Given the description of an element on the screen output the (x, y) to click on. 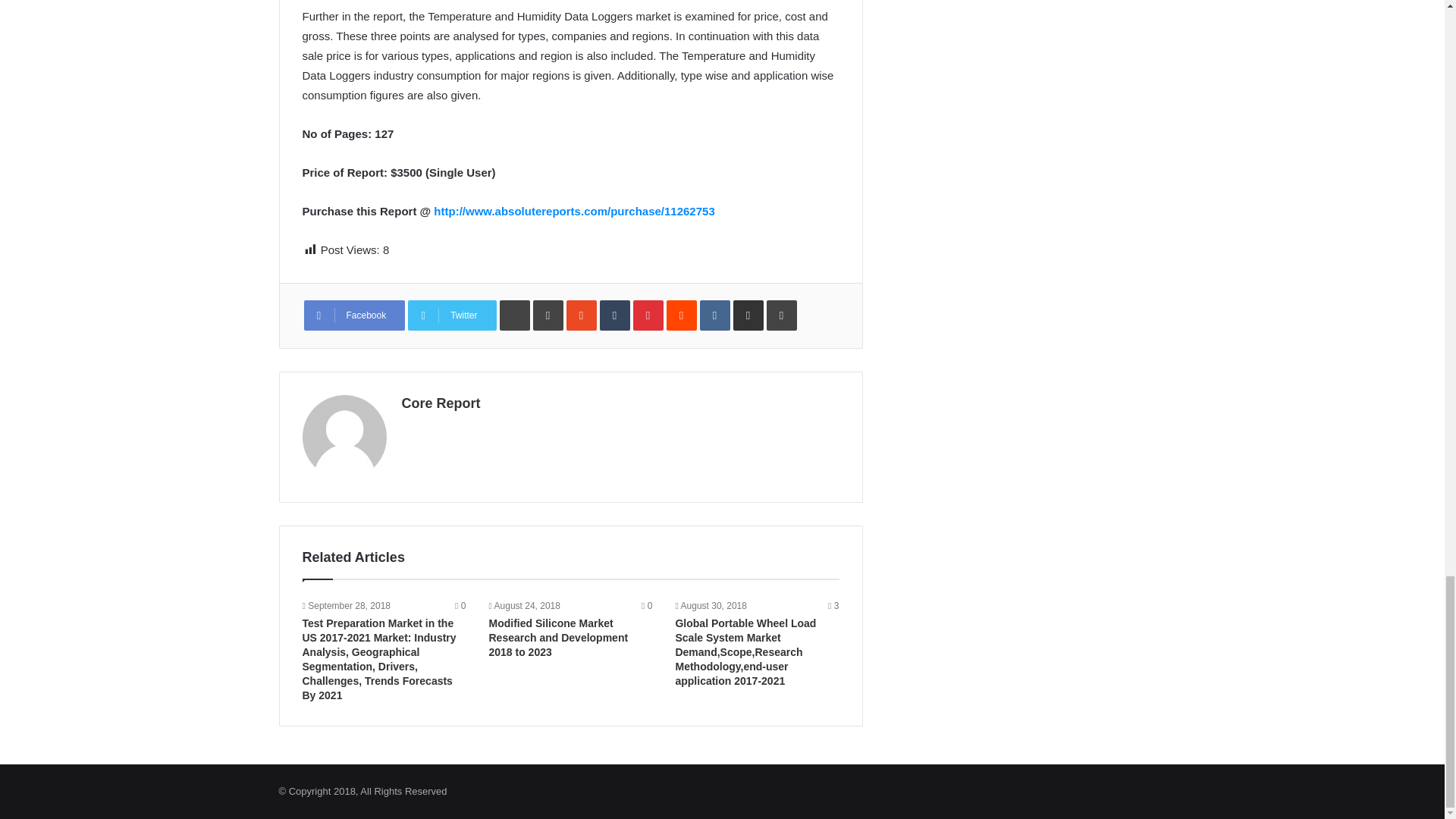
LinkedIn (547, 315)
Reddit (681, 315)
StumbleUpon (581, 315)
VKontakte (715, 315)
Twitter (451, 315)
Pinterest (648, 315)
Share via Email (747, 315)
Facebook (353, 315)
Core Report (440, 403)
Tumblr (614, 315)
Print (781, 315)
